Given the description of an element on the screen output the (x, y) to click on. 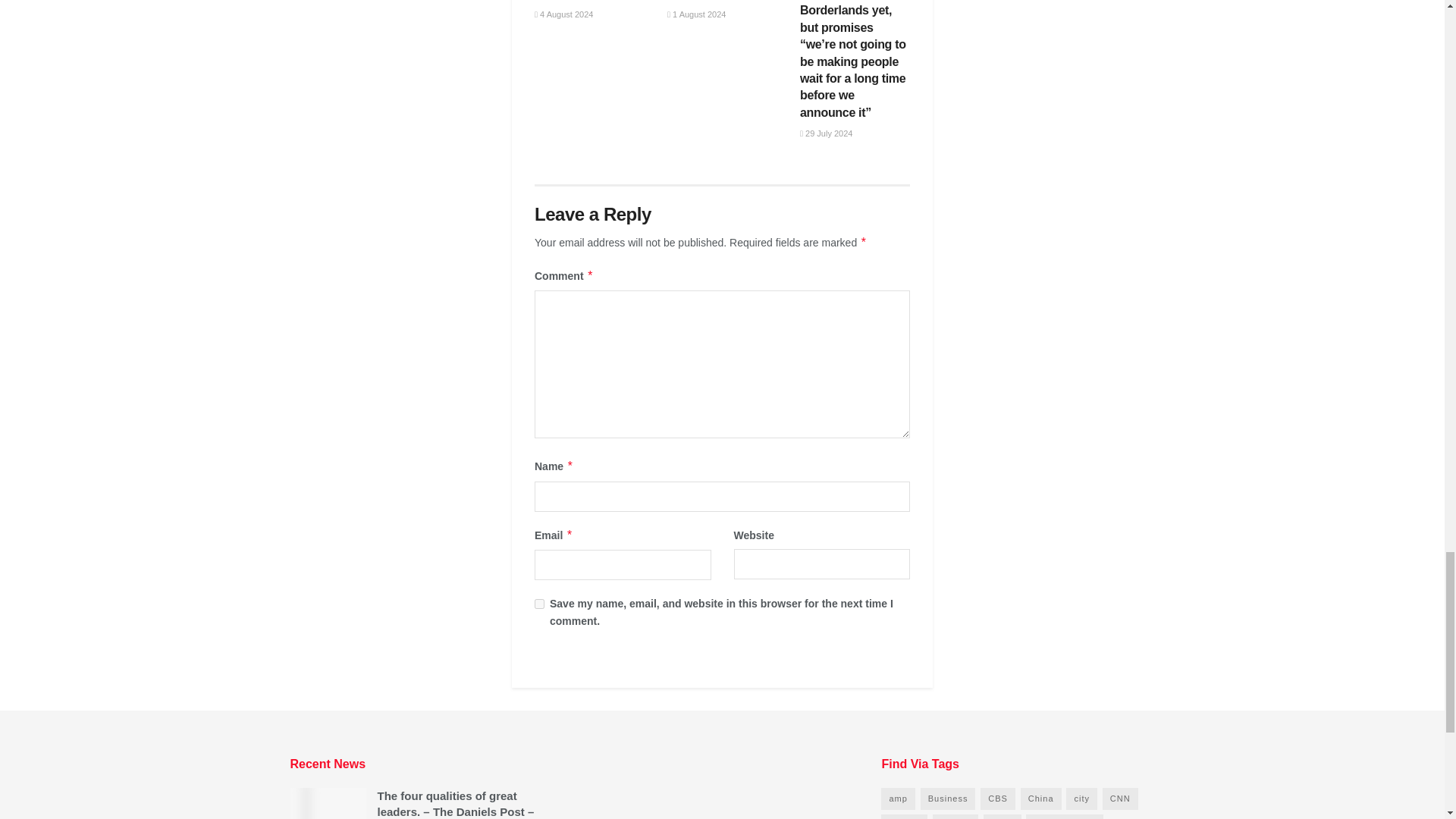
yes (539, 603)
